Given the description of an element on the screen output the (x, y) to click on. 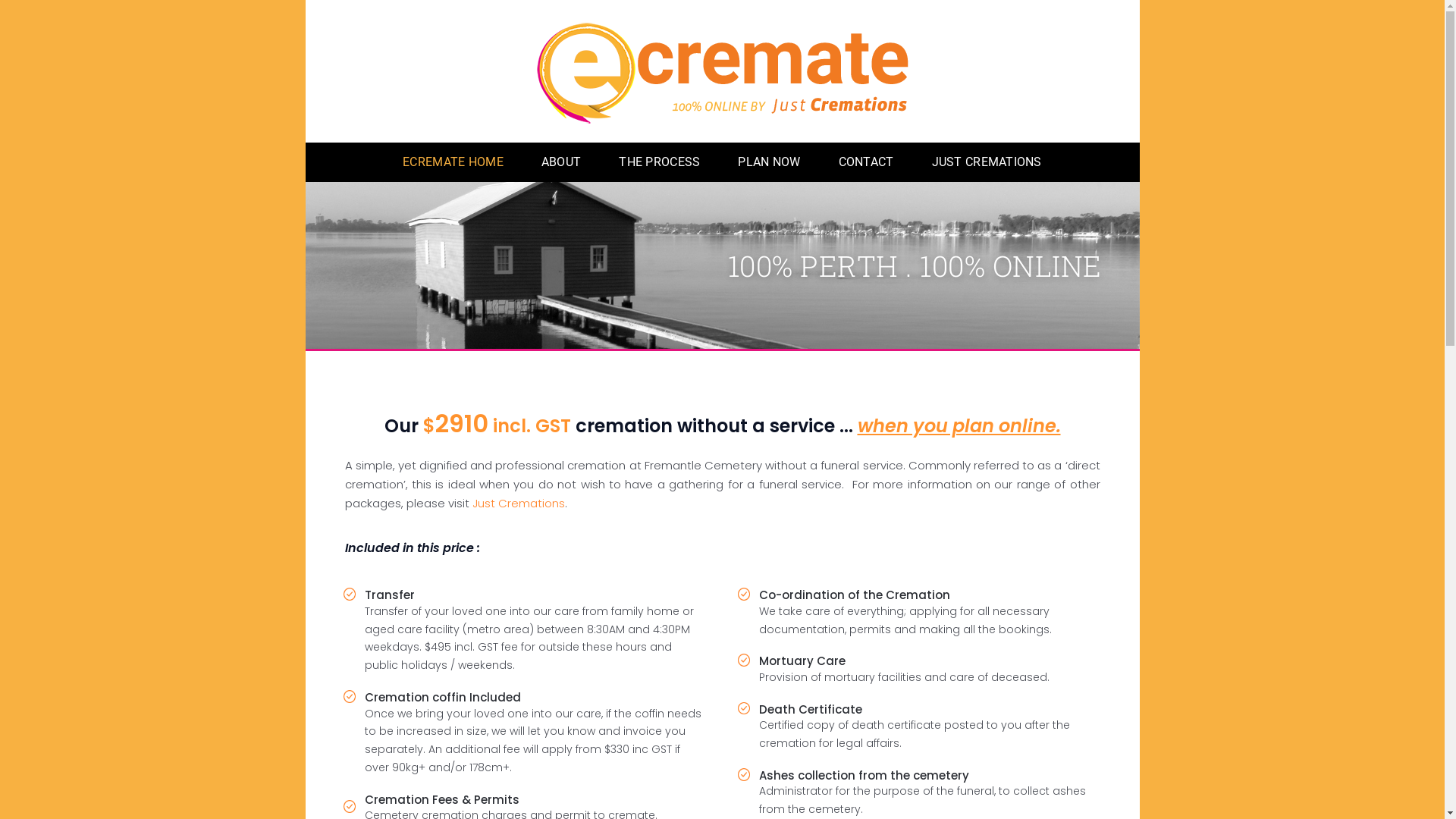
JUST CREMATIONS Element type: text (986, 162)
PLAN NOW Element type: text (768, 162)
ECREMATE HOME Element type: text (452, 162)
ABOUT Element type: text (561, 162)
THE PROCESS Element type: text (659, 162)
CONTACT Element type: text (866, 162)
Just Cremations Element type: text (517, 503)
